Given the description of an element on the screen output the (x, y) to click on. 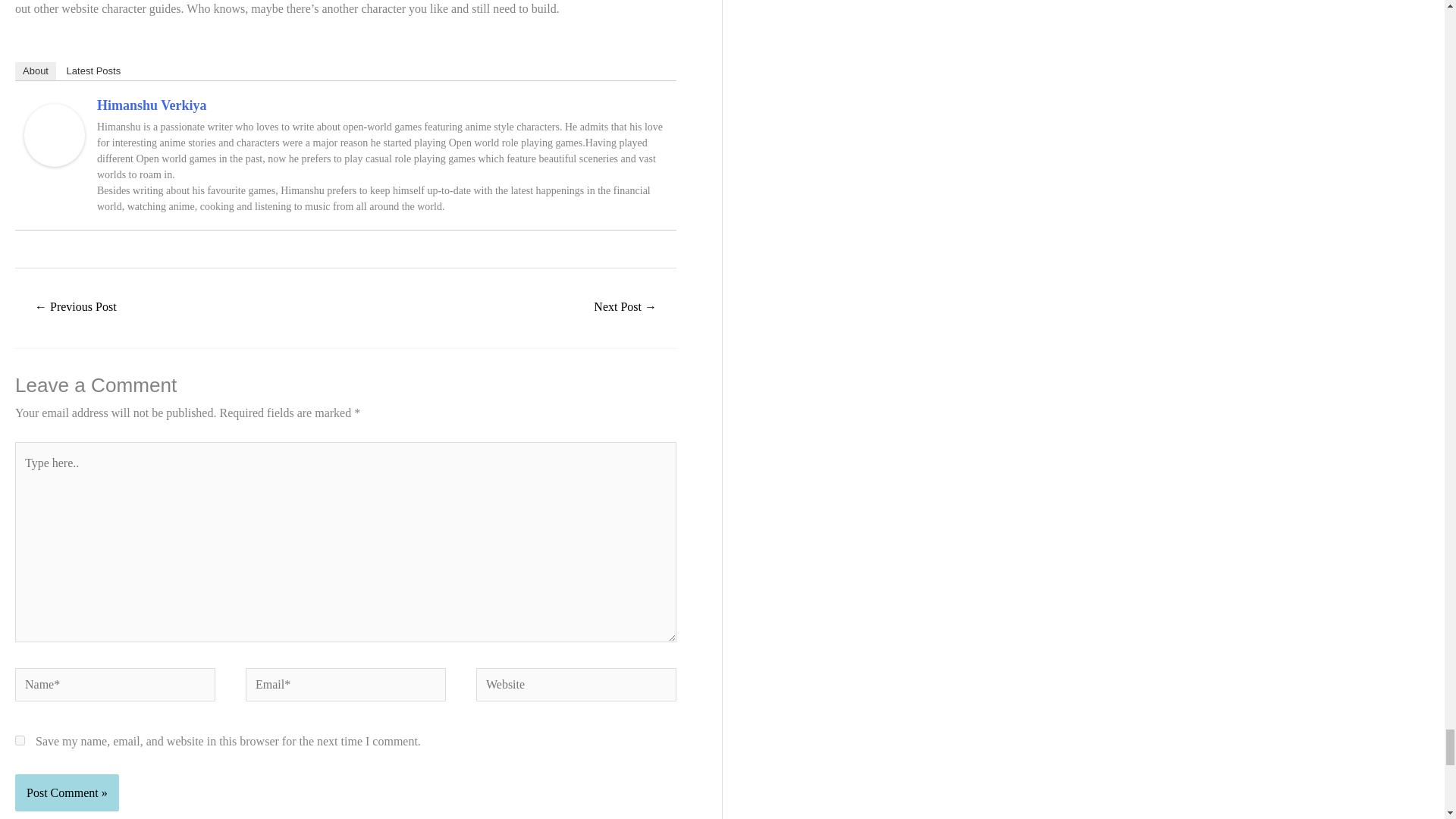
Amber Genshin Impact Guide - Mastering The Outrider (625, 308)
The Catch Genshin Impact Guide (75, 308)
yes (19, 740)
Himanshu Verkiya (54, 133)
